Given the description of an element on the screen output the (x, y) to click on. 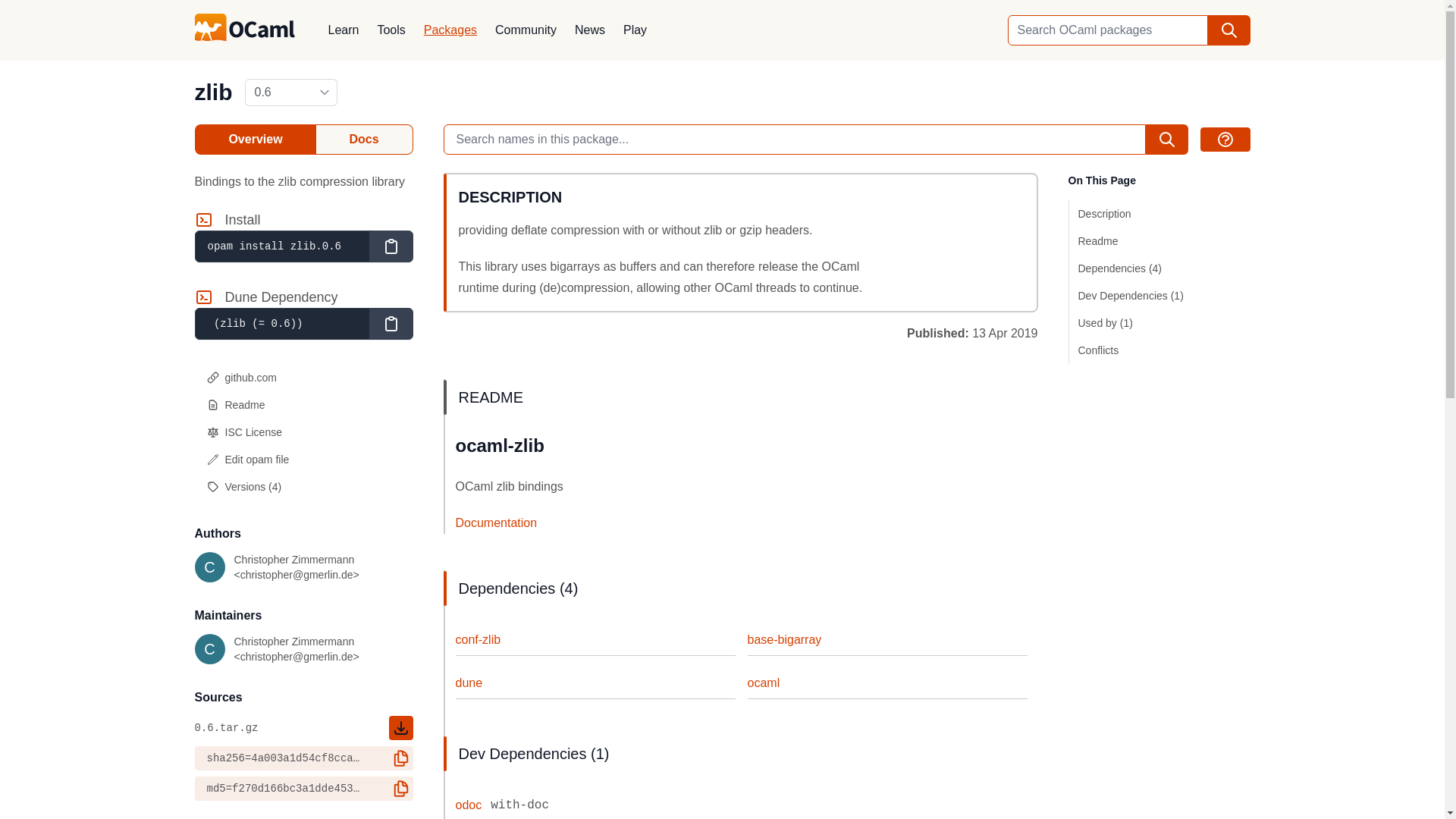
Copy to clipboard (390, 246)
Docs (364, 139)
Readme (302, 404)
Edit opam file (302, 459)
Packages (450, 30)
Overview (254, 139)
Learn (343, 30)
Play (635, 30)
ISC License (302, 431)
News (590, 30)
